Given the description of an element on the screen output the (x, y) to click on. 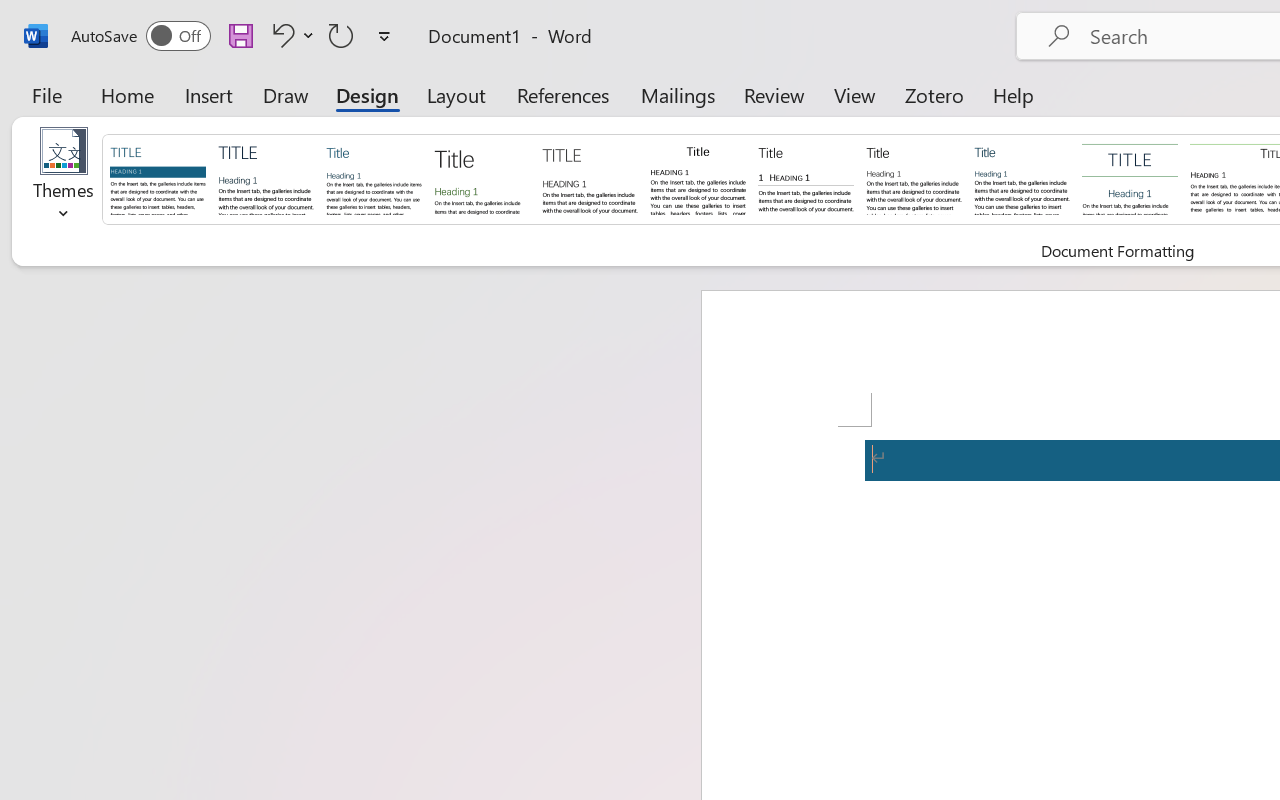
Repeat Style (341, 35)
Black & White (Capitalized) (589, 178)
